Given the description of an element on the screen output the (x, y) to click on. 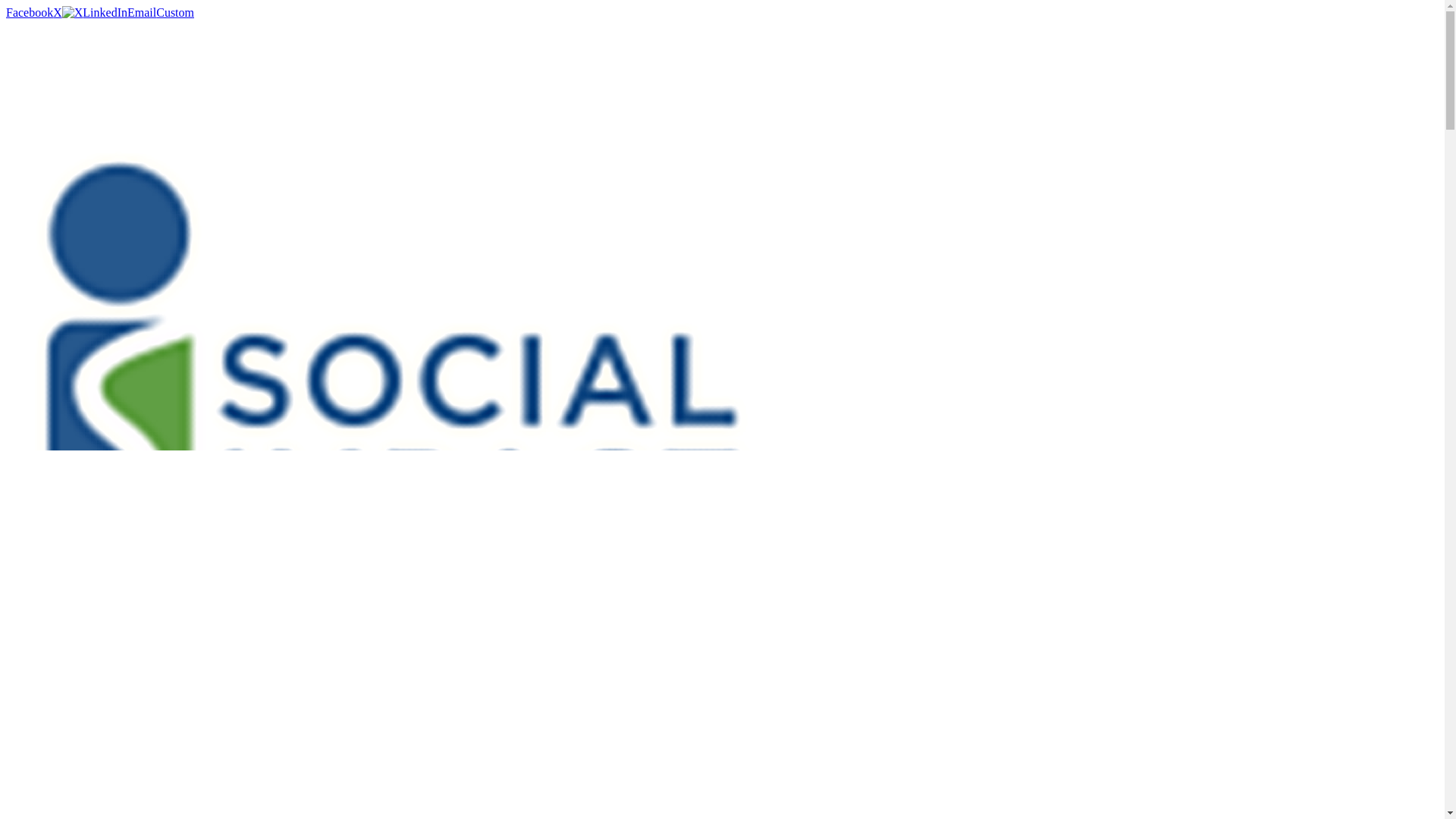
LinkedIn (105, 11)
Facebook (28, 11)
X (67, 11)
Facebook (28, 11)
Custom (174, 11)
Custom (174, 11)
X (67, 11)
Email (141, 11)
LinkedIn (105, 11)
Email (141, 11)
